Given the description of an element on the screen output the (x, y) to click on. 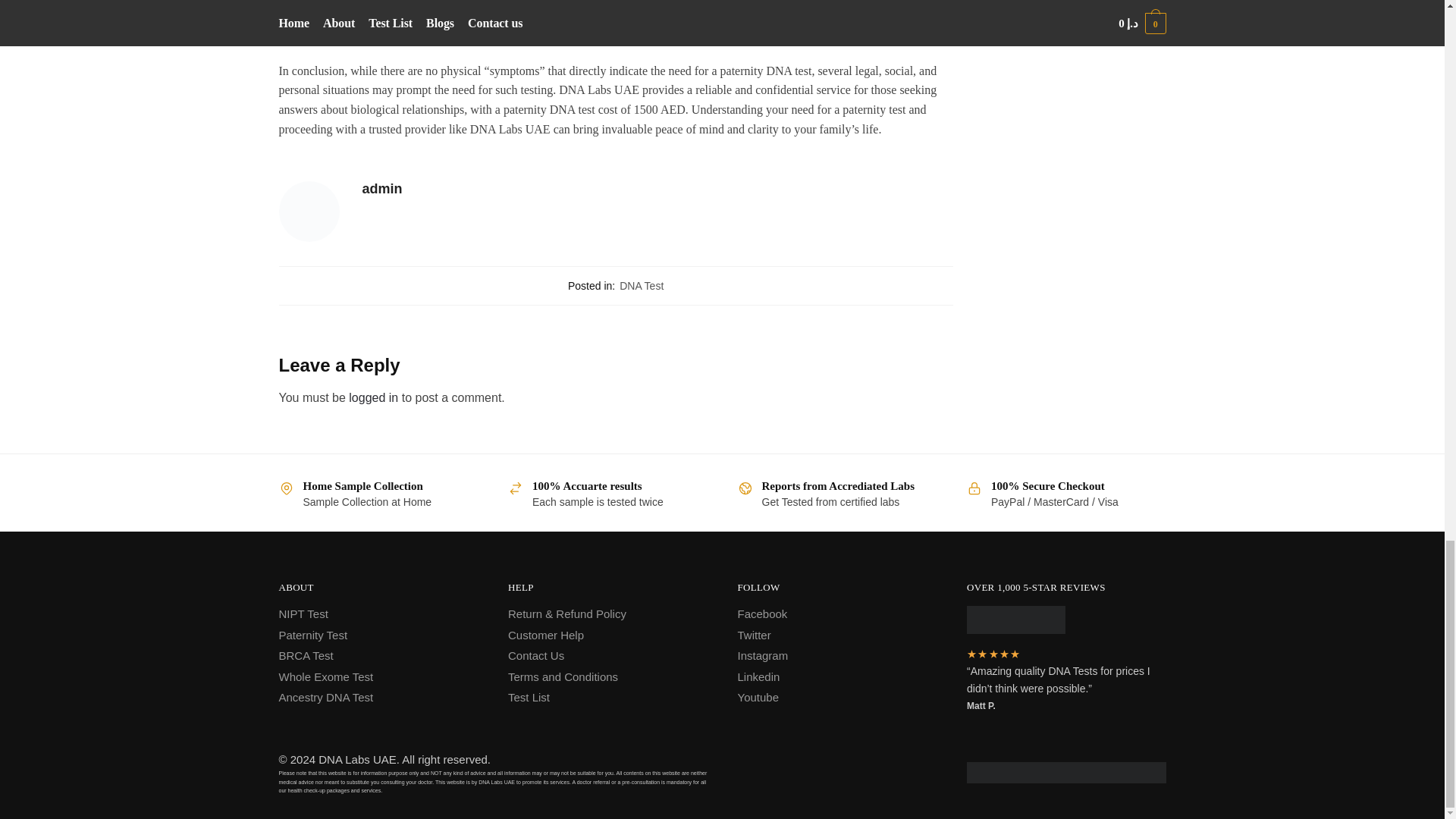
logged in (373, 397)
admin (657, 188)
DNA Test (641, 285)
